Given the description of an element on the screen output the (x, y) to click on. 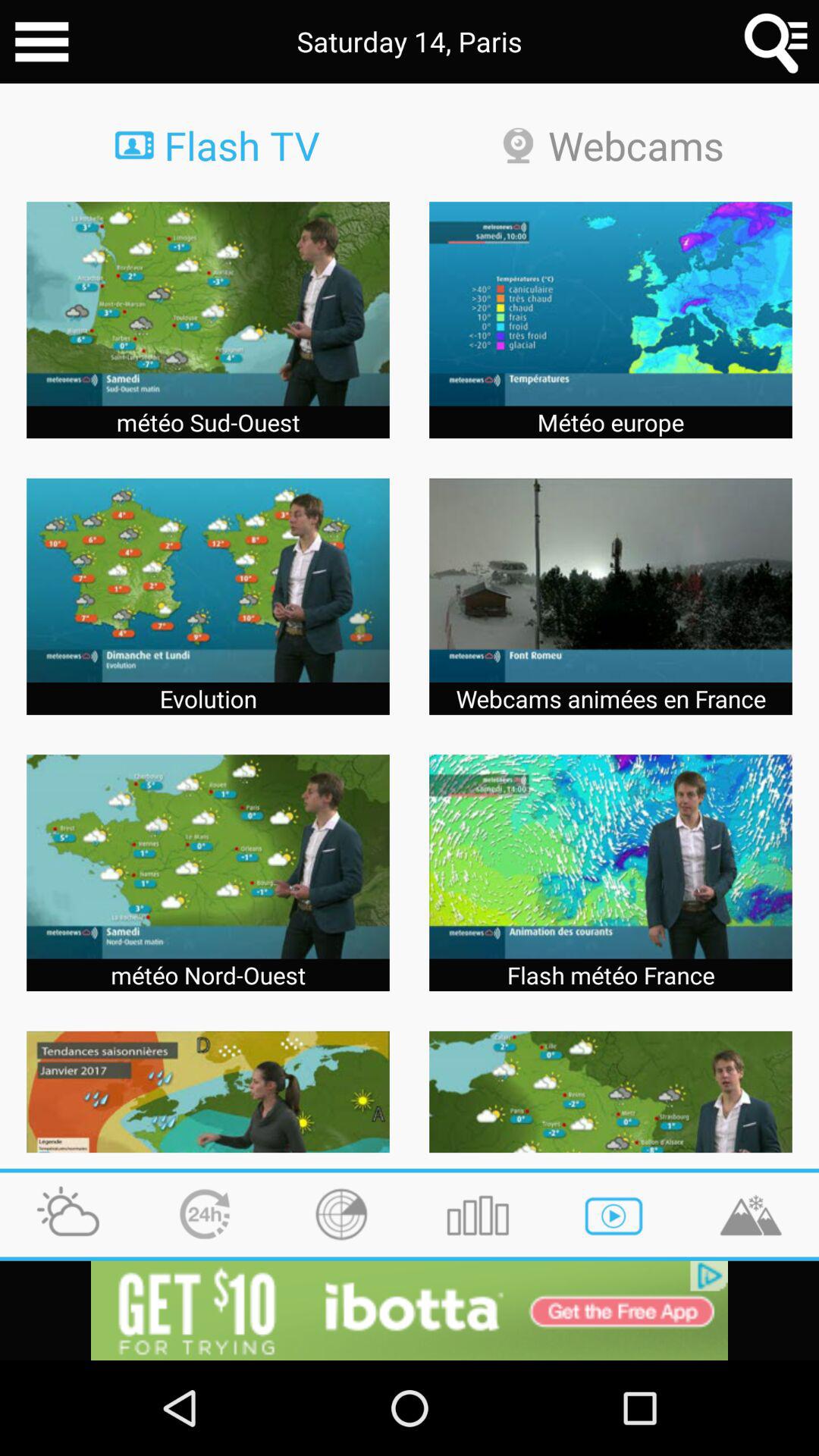
go to menu (41, 41)
